Given the description of an element on the screen output the (x, y) to click on. 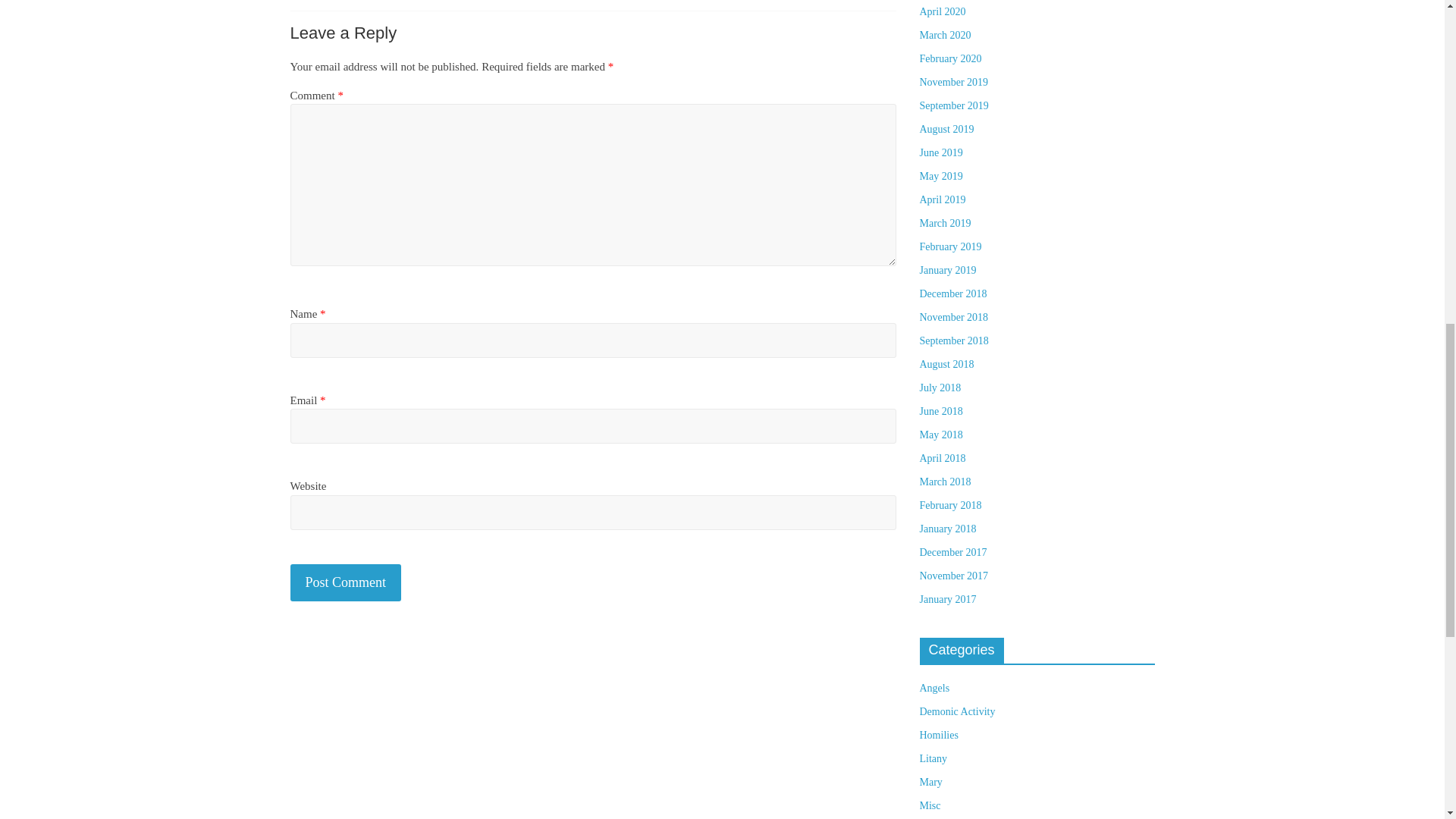
January 2019 (946, 270)
February 2020 (949, 58)
Post Comment (345, 582)
December 2018 (952, 293)
February 2019 (949, 246)
Post Comment (345, 582)
August 2019 (946, 129)
June 2019 (940, 152)
September 2019 (953, 105)
April 2020 (941, 11)
